Given the description of an element on the screen output the (x, y) to click on. 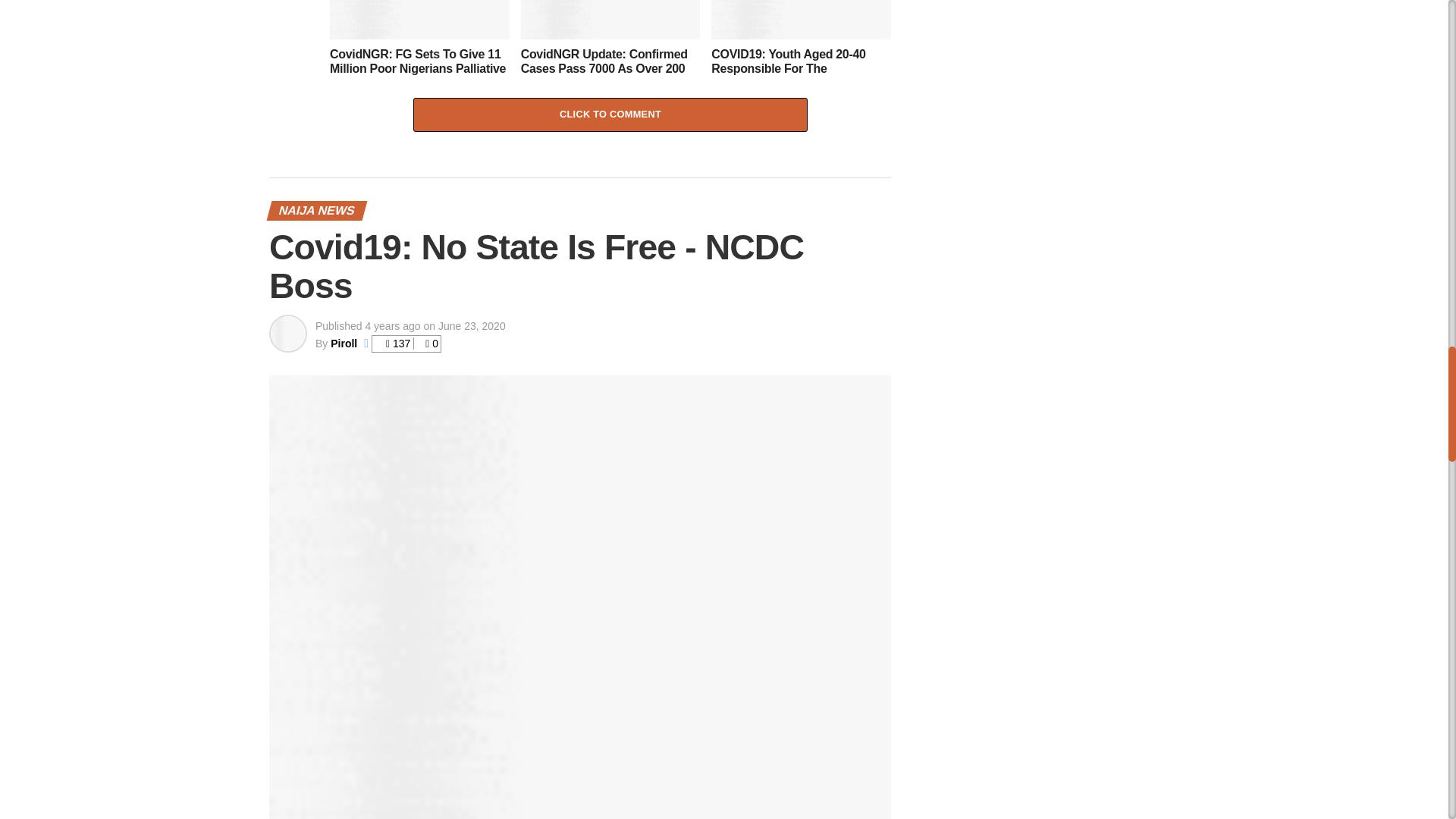
Posts by Piroll (343, 343)
